Given the description of an element on the screen output the (x, y) to click on. 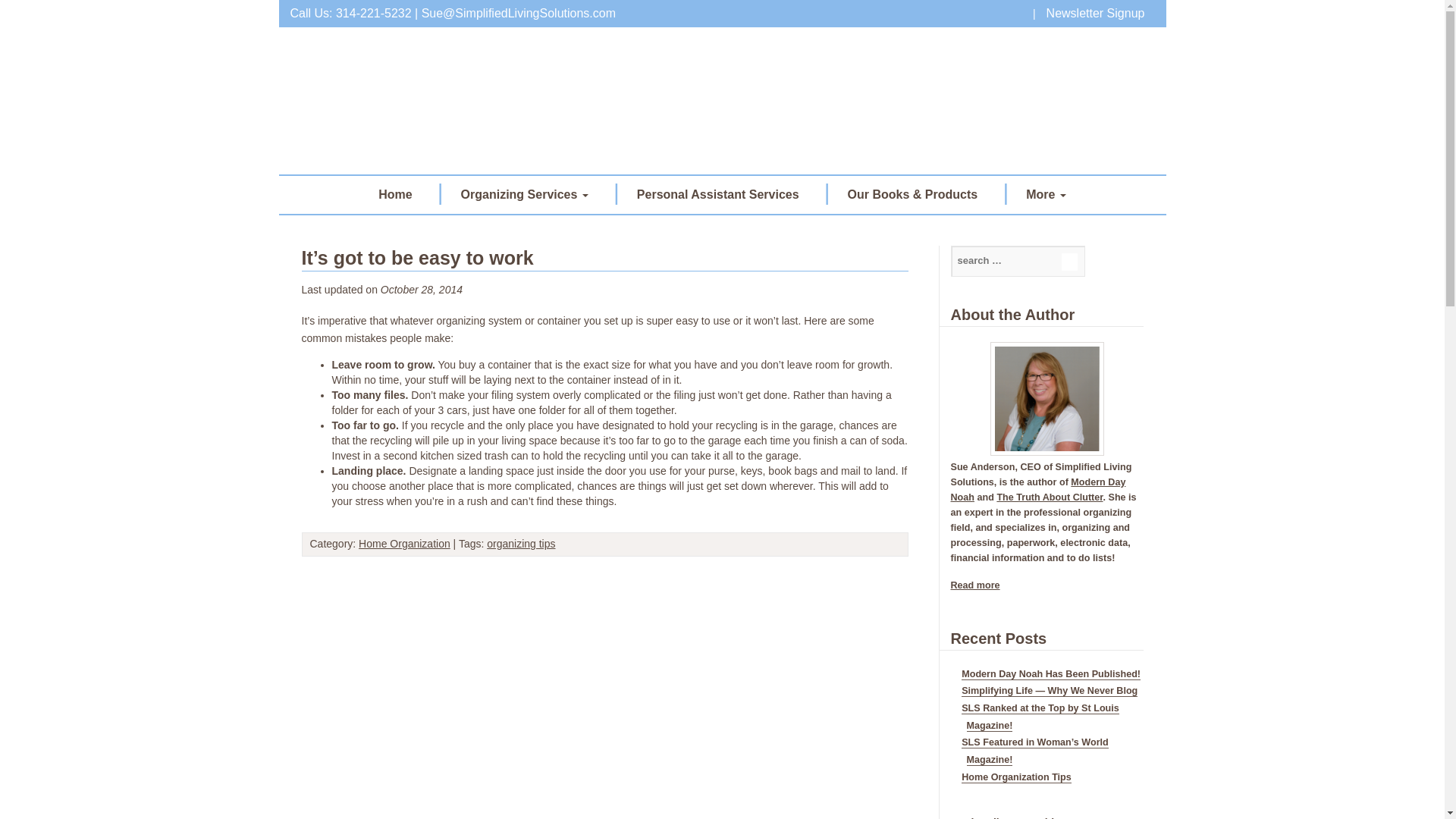
Modern Day Noah Has Been Published! (1050, 674)
Home (394, 194)
Search (1069, 262)
Organizing Services (524, 194)
SLS Ranked at the Top by St Louis Magazine! (1039, 717)
Home Organization (403, 543)
Subscribe to our blog (1012, 817)
Modern Day Noah (1037, 489)
Search (1069, 262)
Home (394, 194)
